Given the description of an element on the screen output the (x, y) to click on. 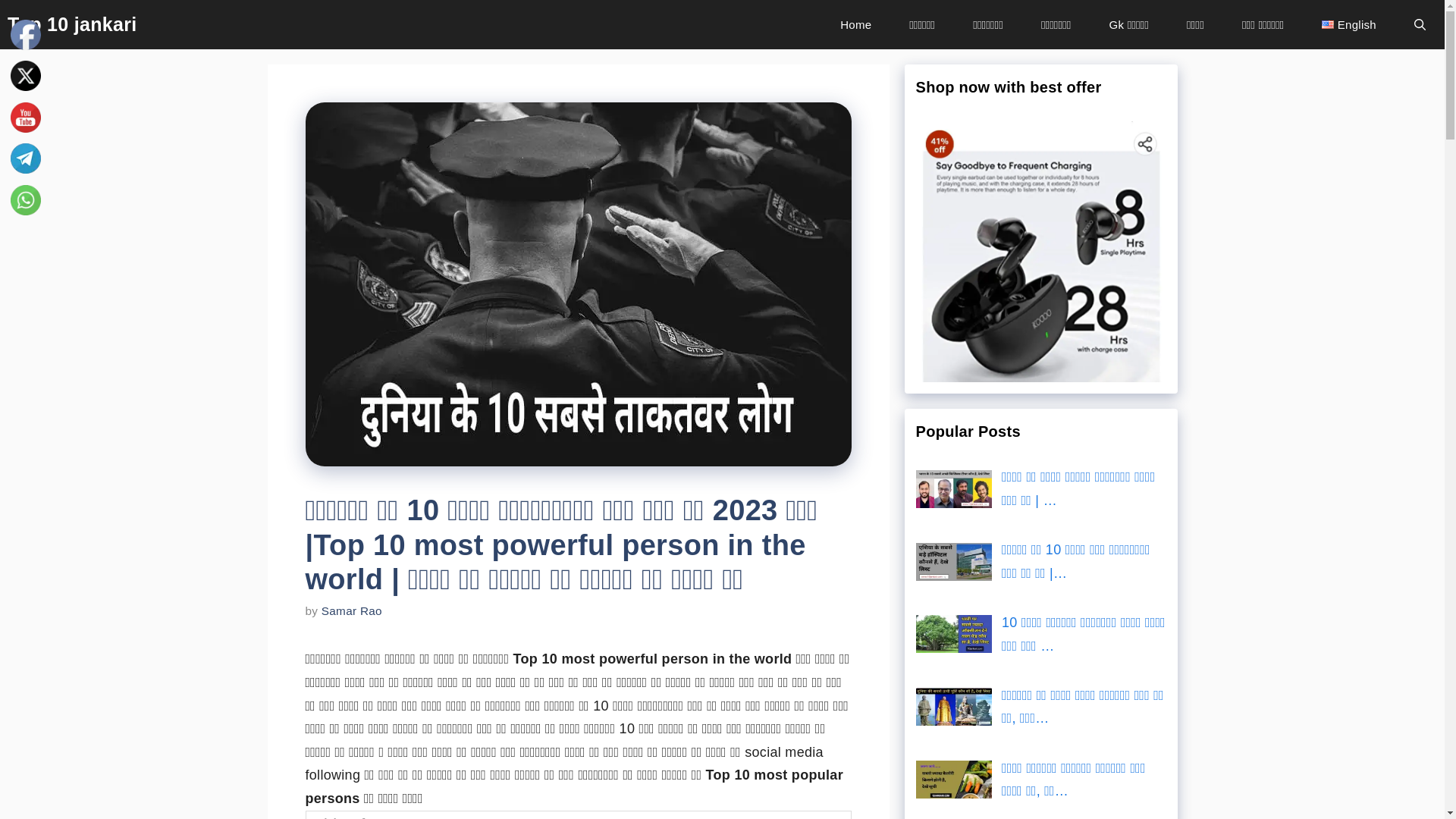
Top 10 jankari Element type: text (71, 24)
Twitter Element type: hover (25, 75)
English Element type: text (1348, 24)
YouTube Element type: hover (25, 117)
WhatsApp Element type: hover (25, 200)
Home Element type: text (855, 24)
Telegram Element type: hover (25, 158)
Samar Rao Element type: text (351, 610)
Facebook Element type: hover (25, 34)
